Given the description of an element on the screen output the (x, y) to click on. 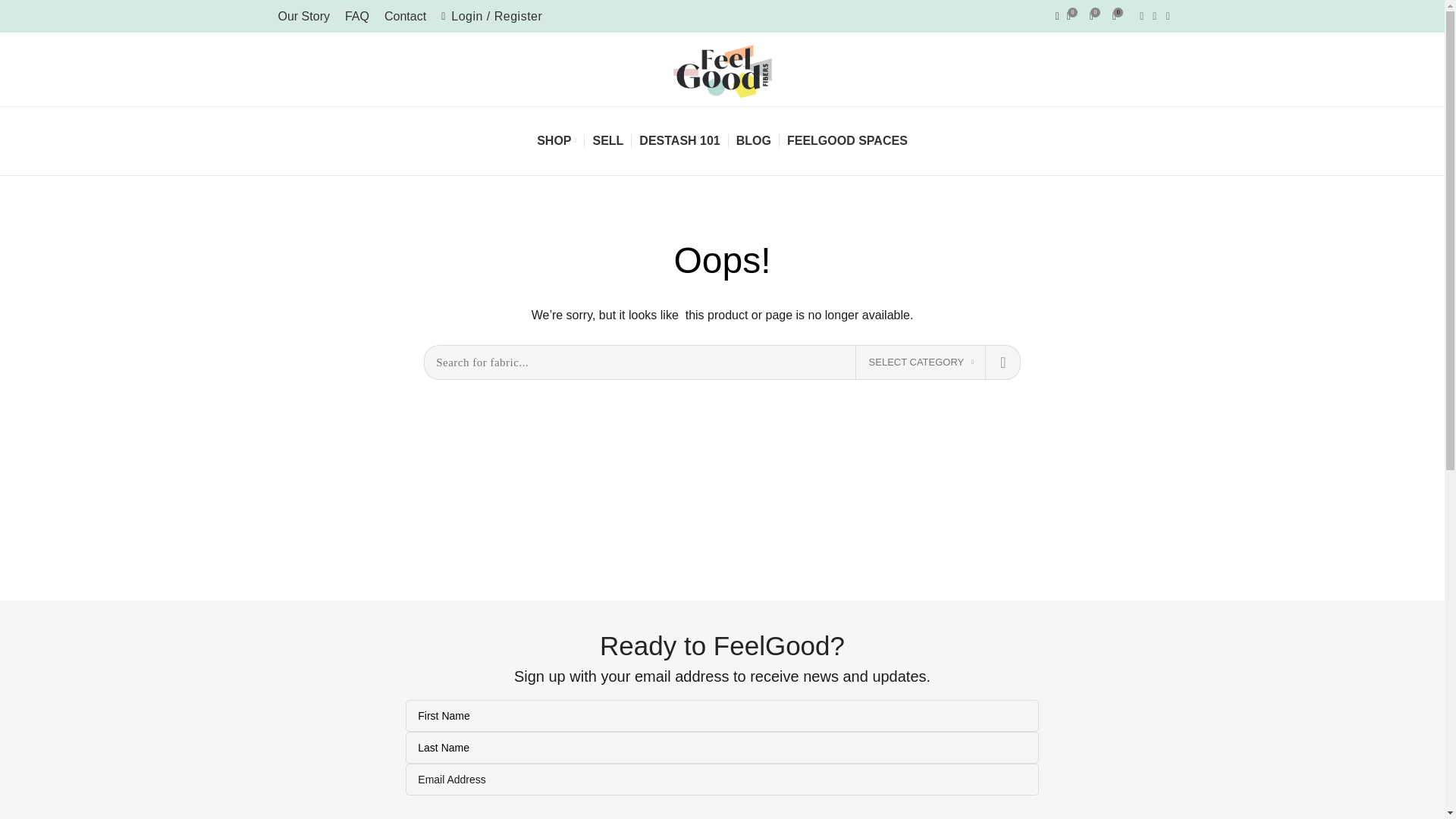
Contact (405, 16)
BLOG (753, 141)
FEELGOOD SPACES (847, 141)
My account (491, 16)
SELECT CATEGORY (920, 362)
DESTASH 101 (679, 141)
SELECT CATEGORY (920, 362)
SHOP (556, 141)
Our Story (303, 16)
SELL (607, 141)
